Given the description of an element on the screen output the (x, y) to click on. 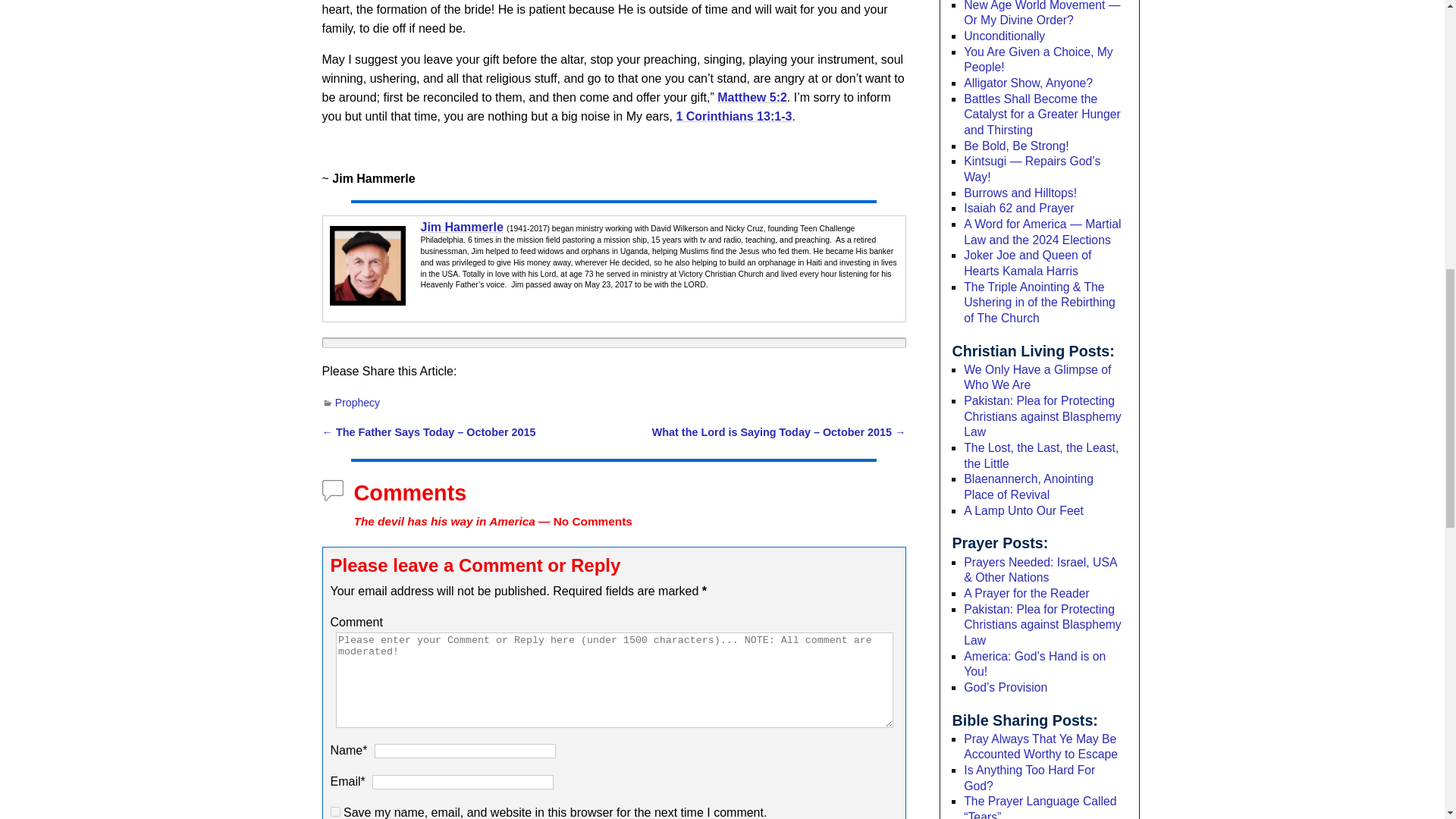
Jim Hammerle (366, 265)
Jim Hammerle (461, 226)
yes (335, 811)
